Given the description of an element on the screen output the (x, y) to click on. 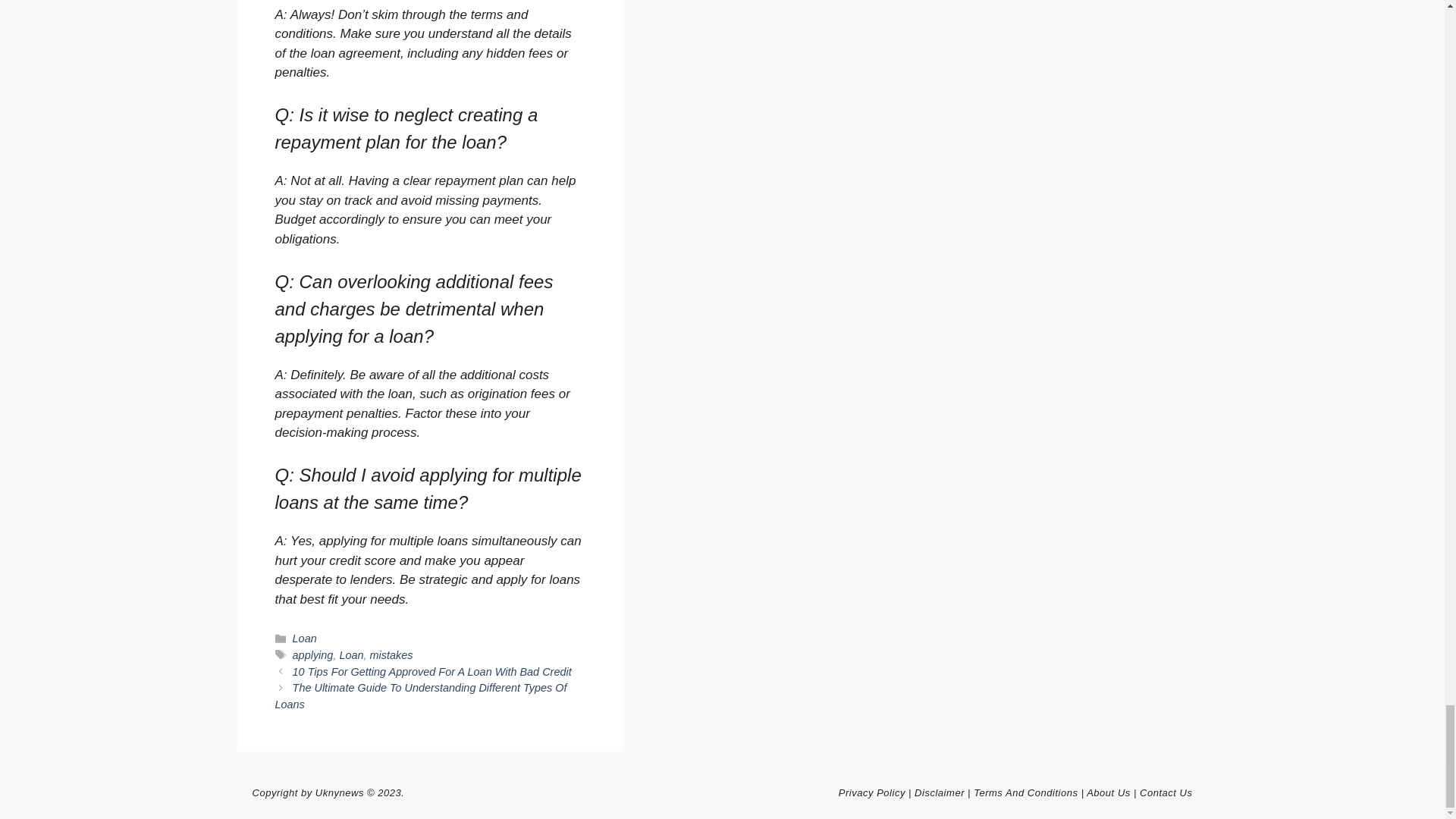
The Ultimate Guide To Understanding Different Types Of Loans (420, 695)
applying (312, 654)
Loan (350, 654)
Loan (304, 638)
mistakes (391, 654)
10 Tips For Getting Approved For A Loan With Bad Credit (432, 671)
